Given the description of an element on the screen output the (x, y) to click on. 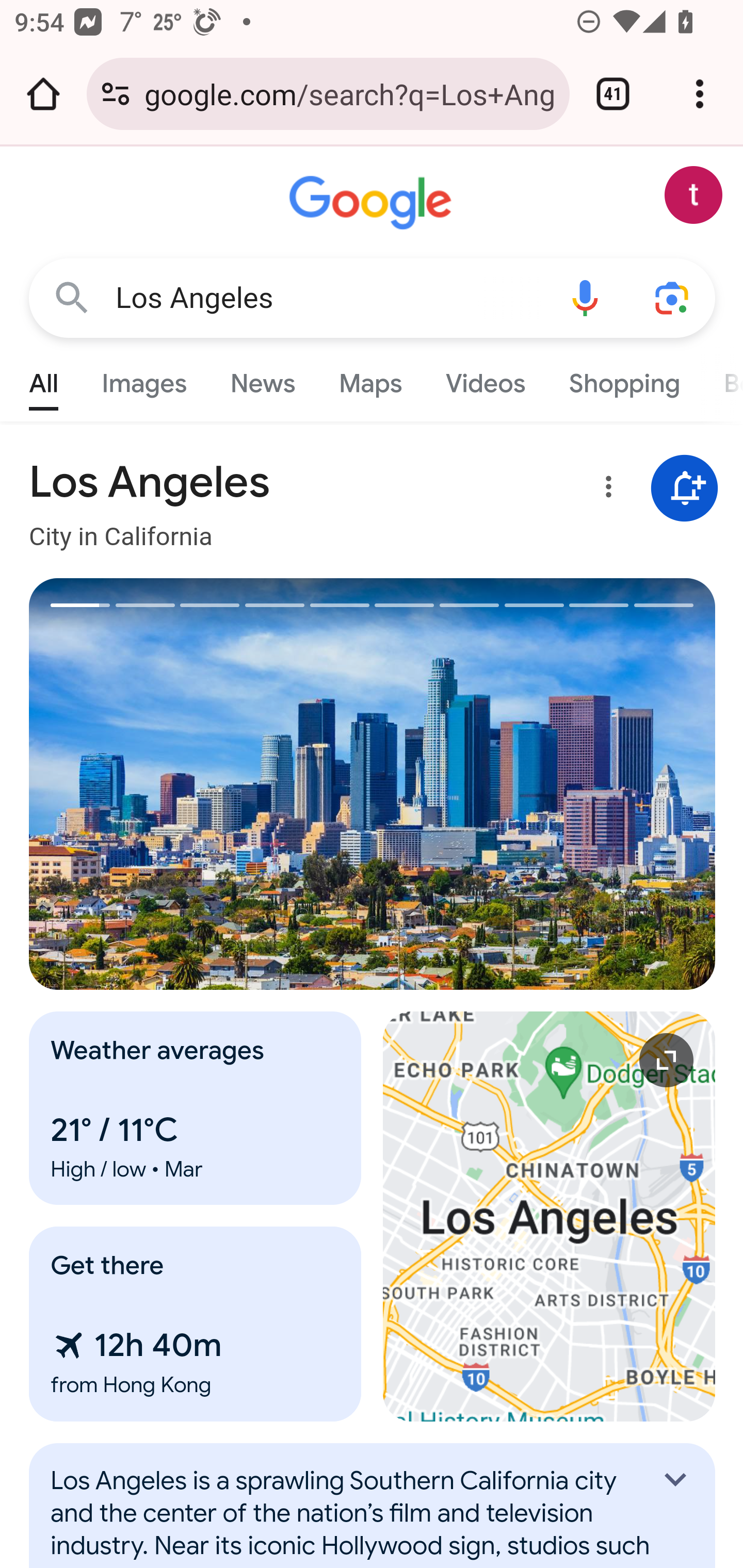
Open the home page (43, 93)
Connection is secure (115, 93)
Switch or close tabs (612, 93)
Customize and control Google Chrome (699, 93)
Google (372, 203)
Google Search (71, 296)
Search using your camera or photos (672, 296)
Los Angeles (328, 297)
Images (144, 378)
News (262, 378)
Maps (369, 378)
Videos (485, 378)
Shopping (623, 378)
Get notifications about Los Angeles (684, 489)
More options (605, 489)
Previous image (200, 783)
Next image (544, 783)
Weather averages 21° / 11°C High / low • Mar (195, 1108)
Expand map (549, 1216)
